Given the description of an element on the screen output the (x, y) to click on. 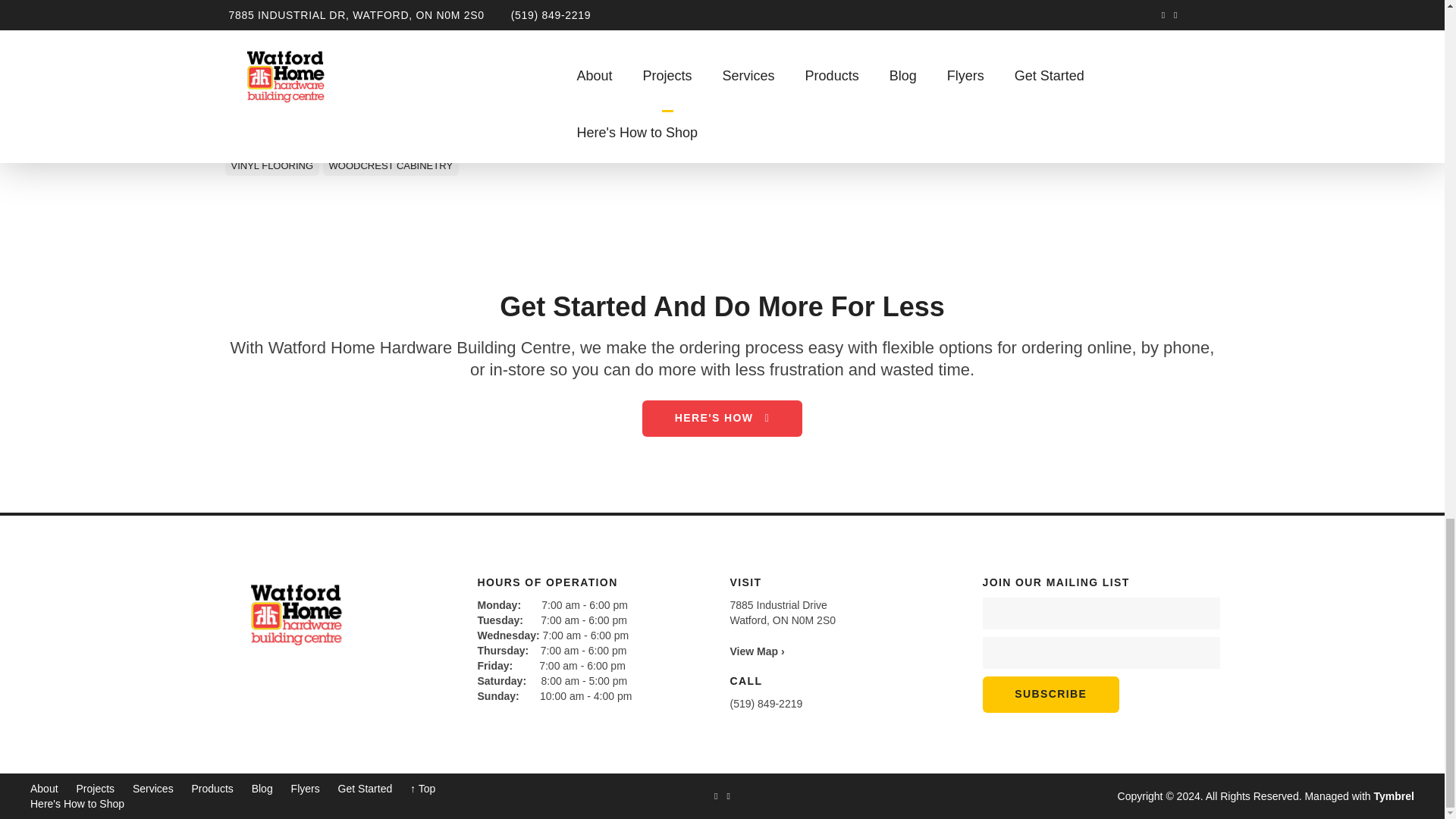
BEIGE (245, 143)
BRUSHED NICKEL (420, 143)
BLACK (292, 143)
CREAM (497, 143)
BROWN (343, 143)
Subscribe (1050, 694)
